Given the description of an element on the screen output the (x, y) to click on. 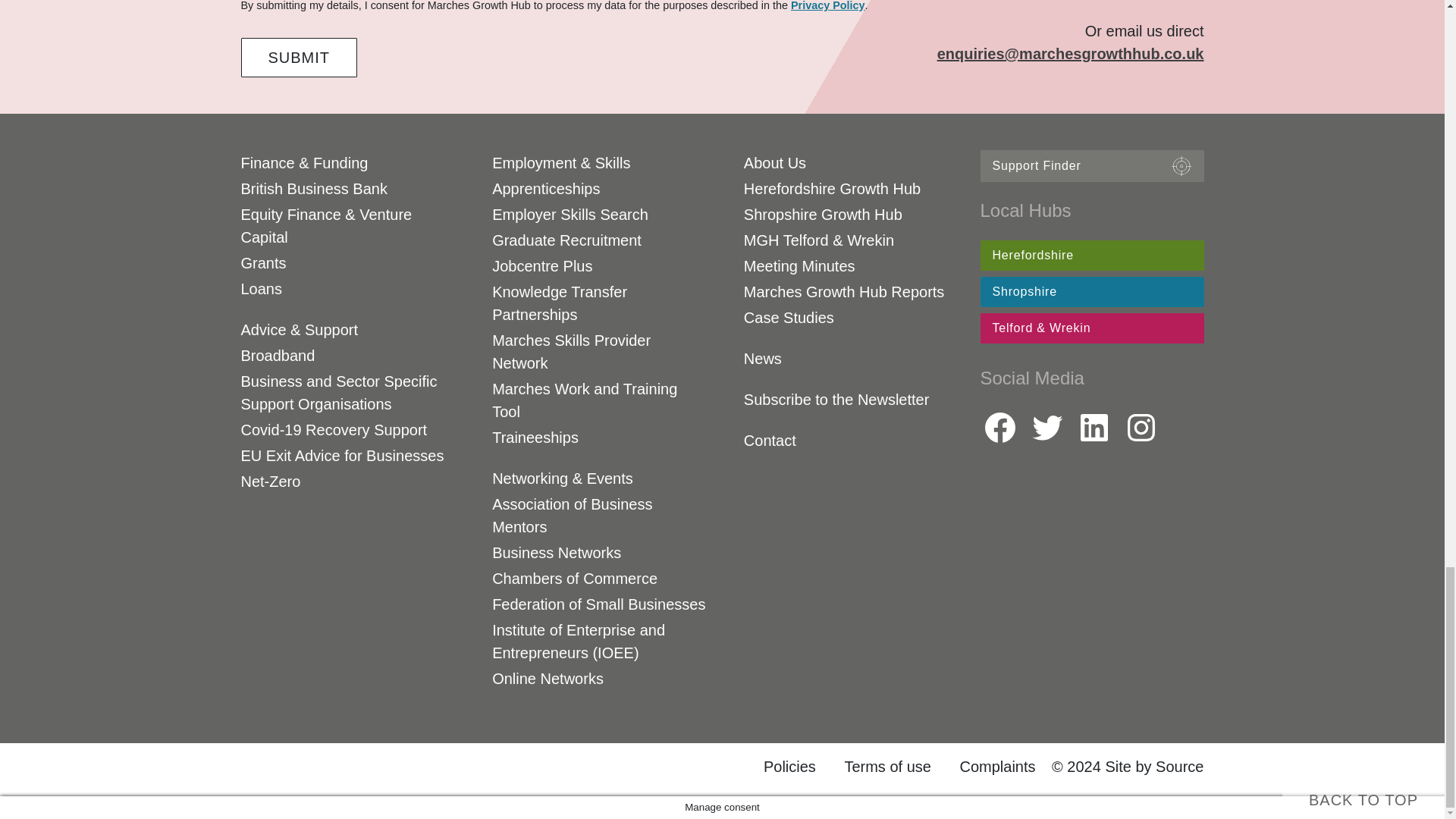
Submit (299, 56)
